Given the description of an element on the screen output the (x, y) to click on. 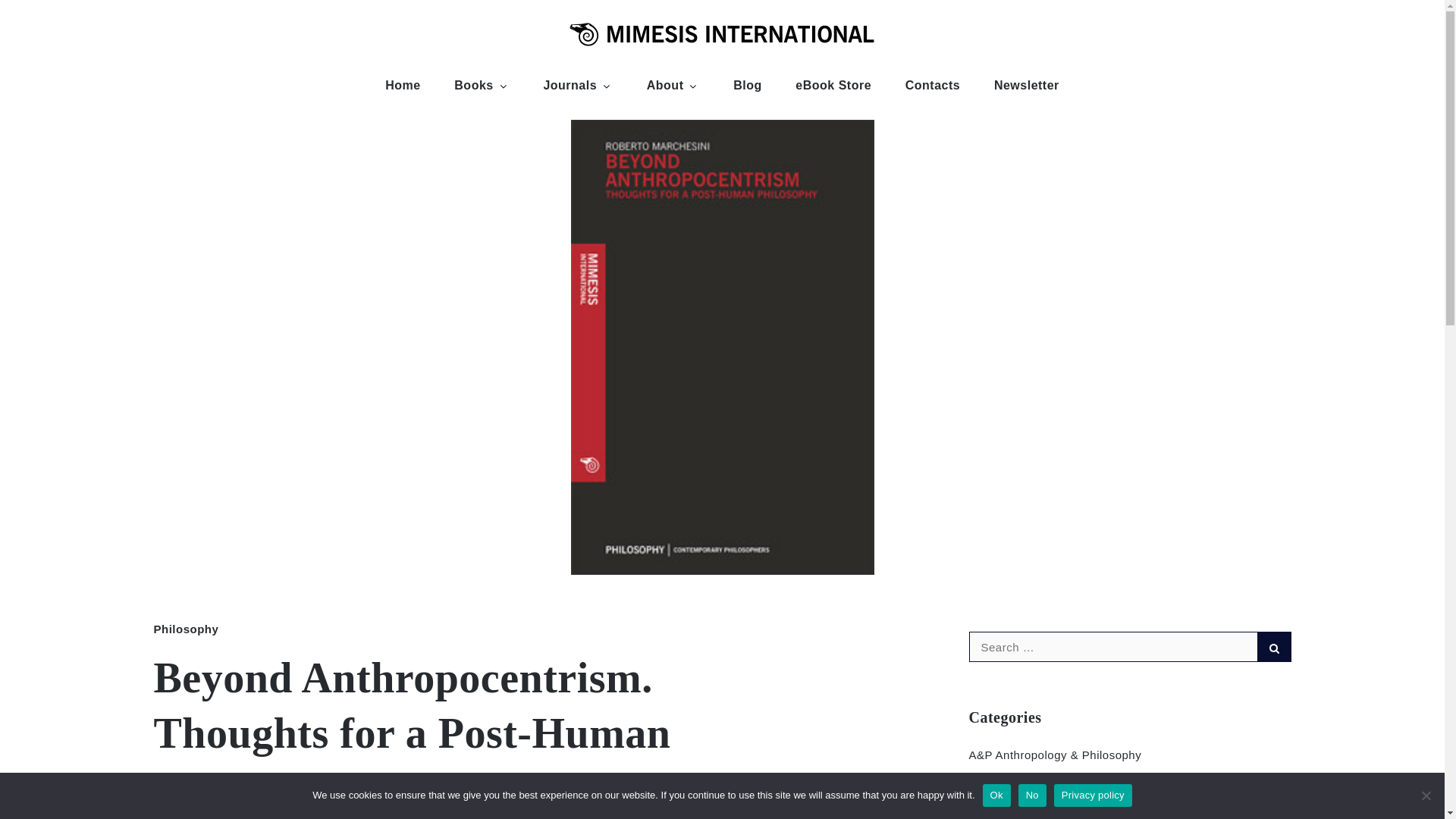
Home (402, 85)
Mimesis International (921, 86)
Books (481, 85)
